Given the description of an element on the screen output the (x, y) to click on. 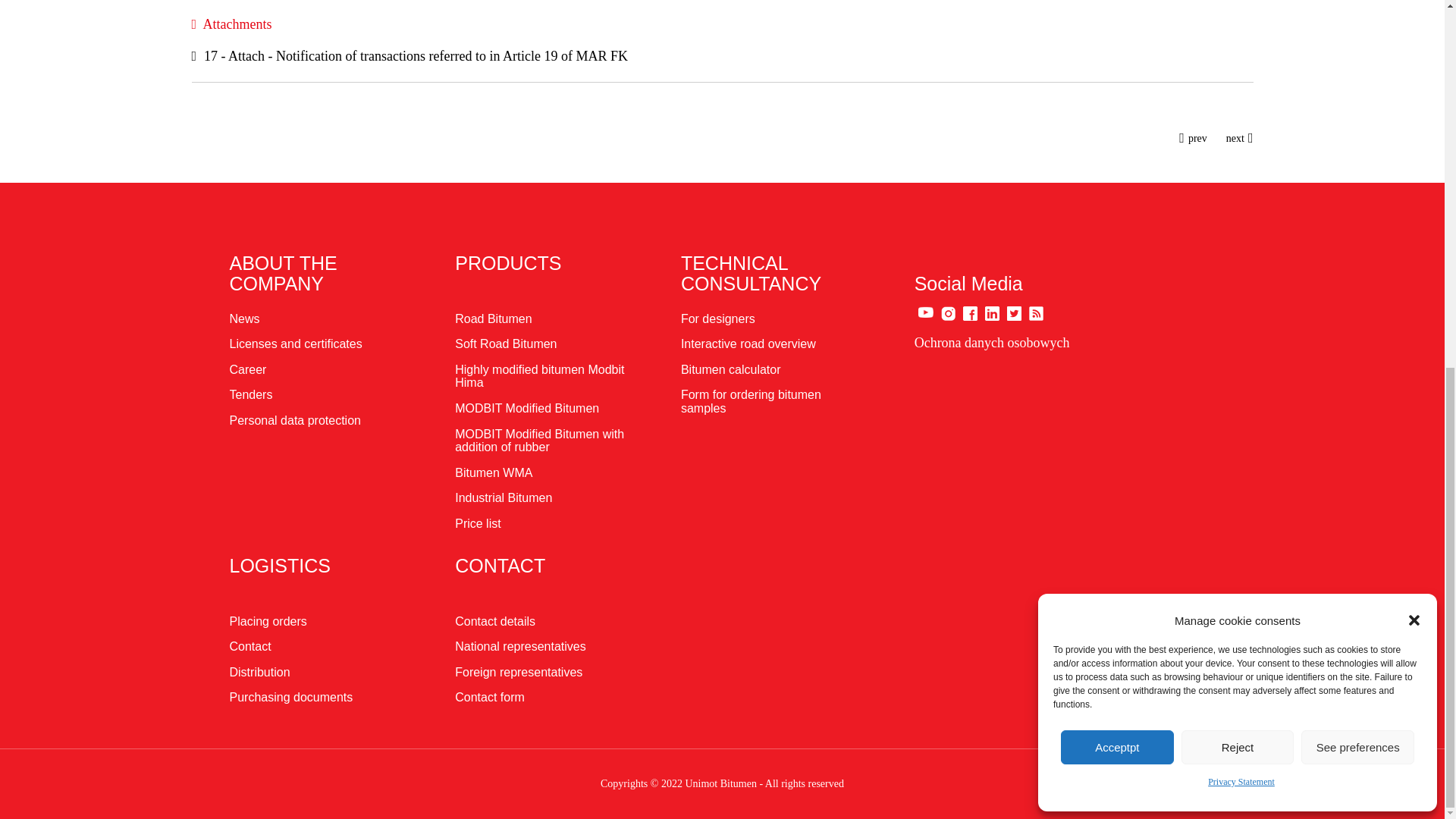
Acceptpt (1117, 84)
Privacy Statement (1241, 118)
Reject (1237, 84)
See preferences (1357, 84)
